Given the description of an element on the screen output the (x, y) to click on. 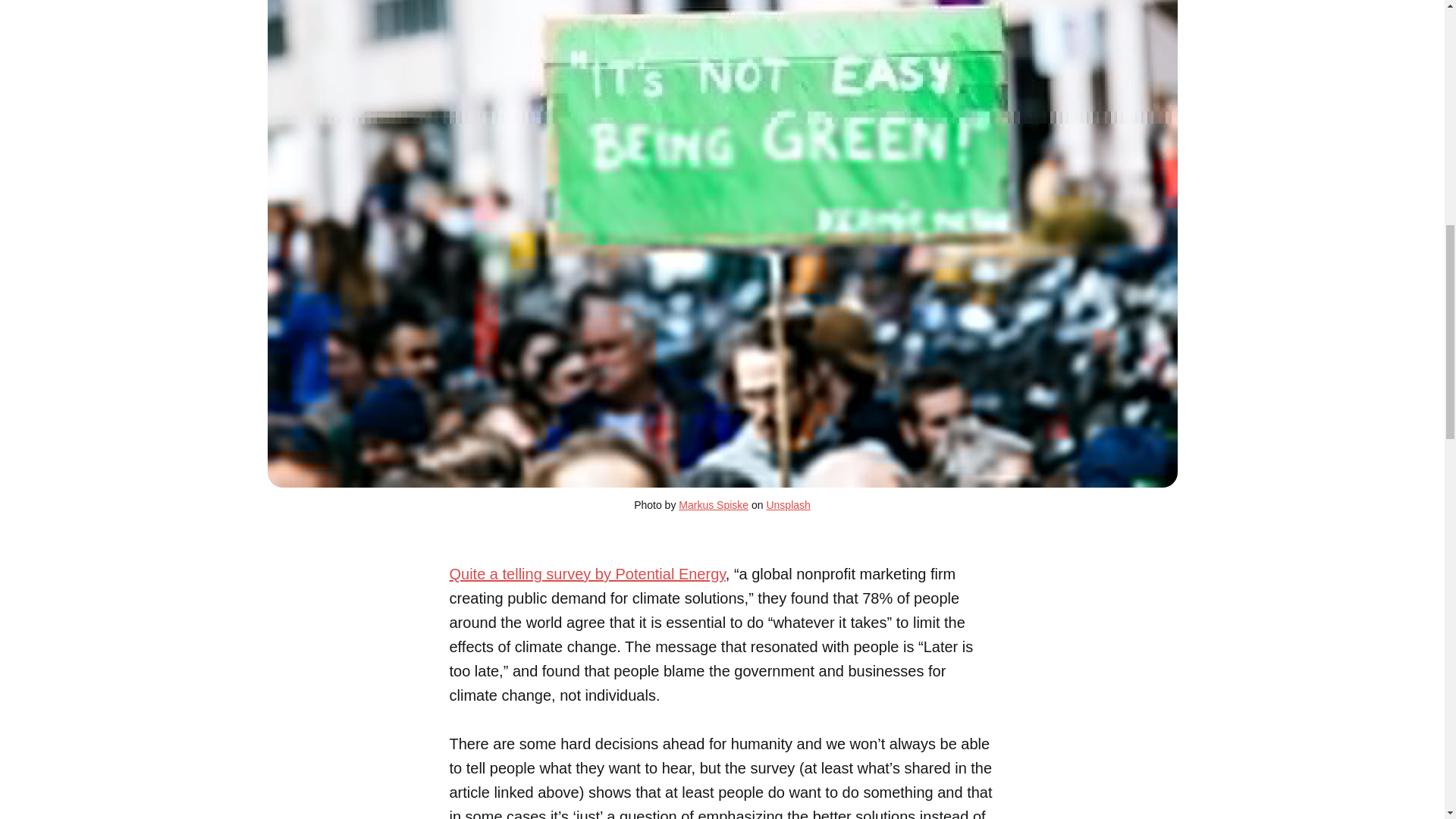
Quite a telling survey by Potential Energy (586, 573)
Unsplash (787, 504)
Markus Spiske (713, 504)
